Given the description of an element on the screen output the (x, y) to click on. 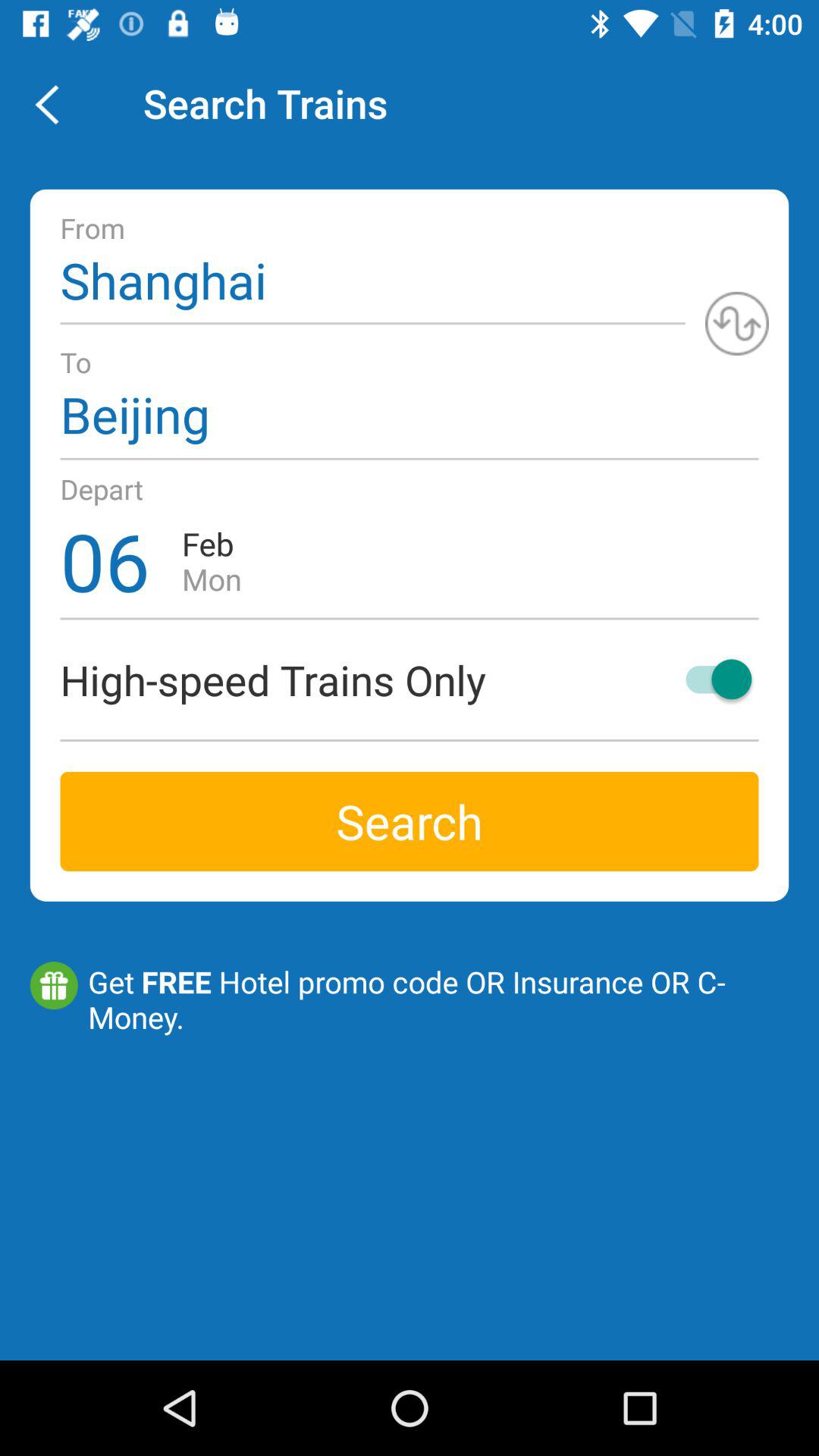
on-off high-speed trains only (711, 679)
